Given the description of an element on the screen output the (x, y) to click on. 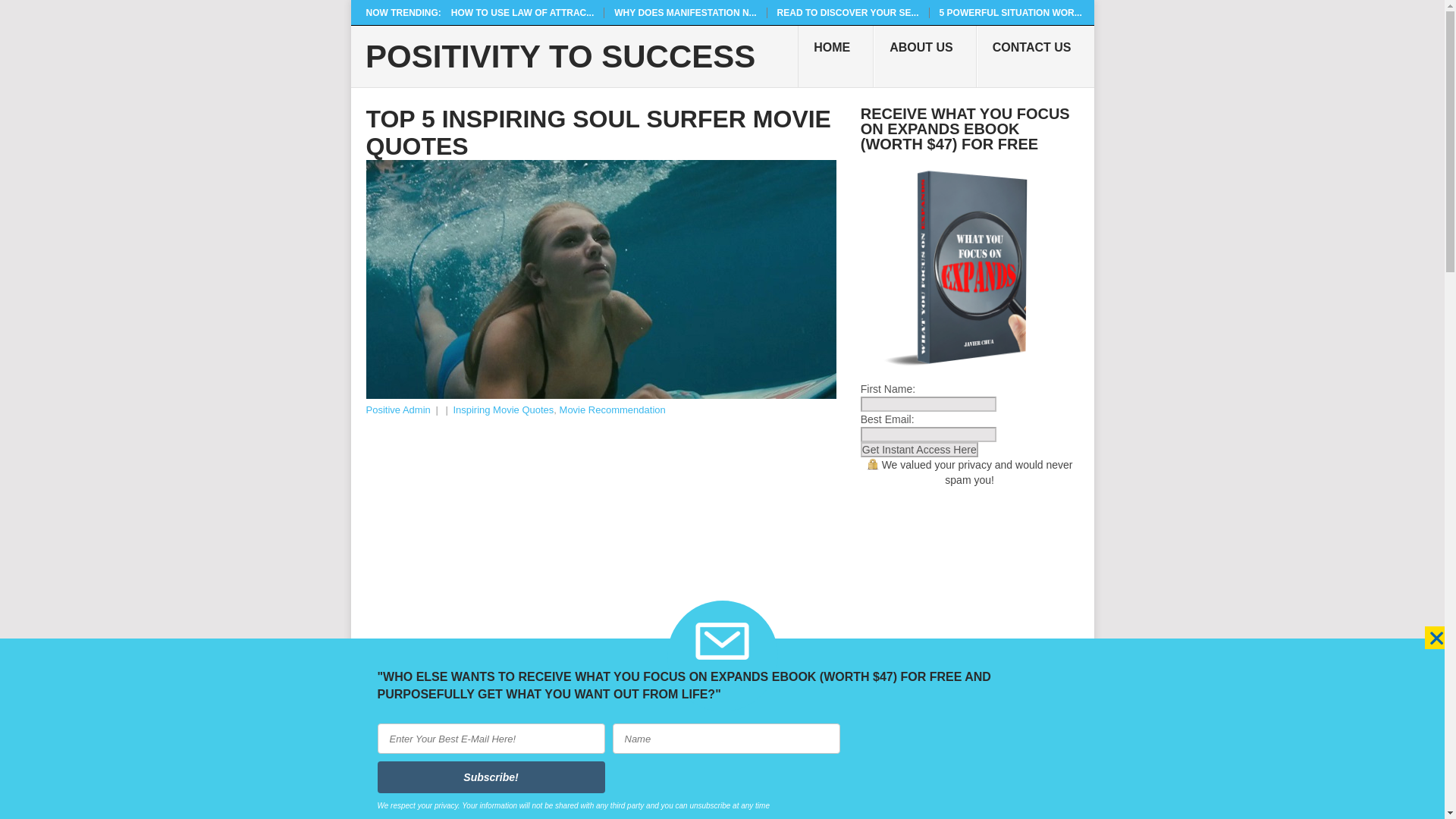
WHY DOES MANIFESTATION N... (684, 12)
READ TO DISCOVER YOUR SE... (847, 12)
Facebook (432, 662)
Get Instant Access Here (919, 449)
Twitter (569, 662)
Subscribe! (491, 777)
Posts by Positive Admin (397, 409)
Advertisement (601, 531)
Positive Admin (397, 409)
Why Does Manifestation Not Work For Me? (684, 12)
5 POWERFUL SITUATION WOR... (1010, 12)
Movie Recommendation (612, 409)
5 Powerful Situation Words To Help You Stay Motivated (1010, 12)
Inspiring Movie Quotes (502, 409)
Read To Discover Your Self-worth And Lead By Example (847, 12)
